Given the description of an element on the screen output the (x, y) to click on. 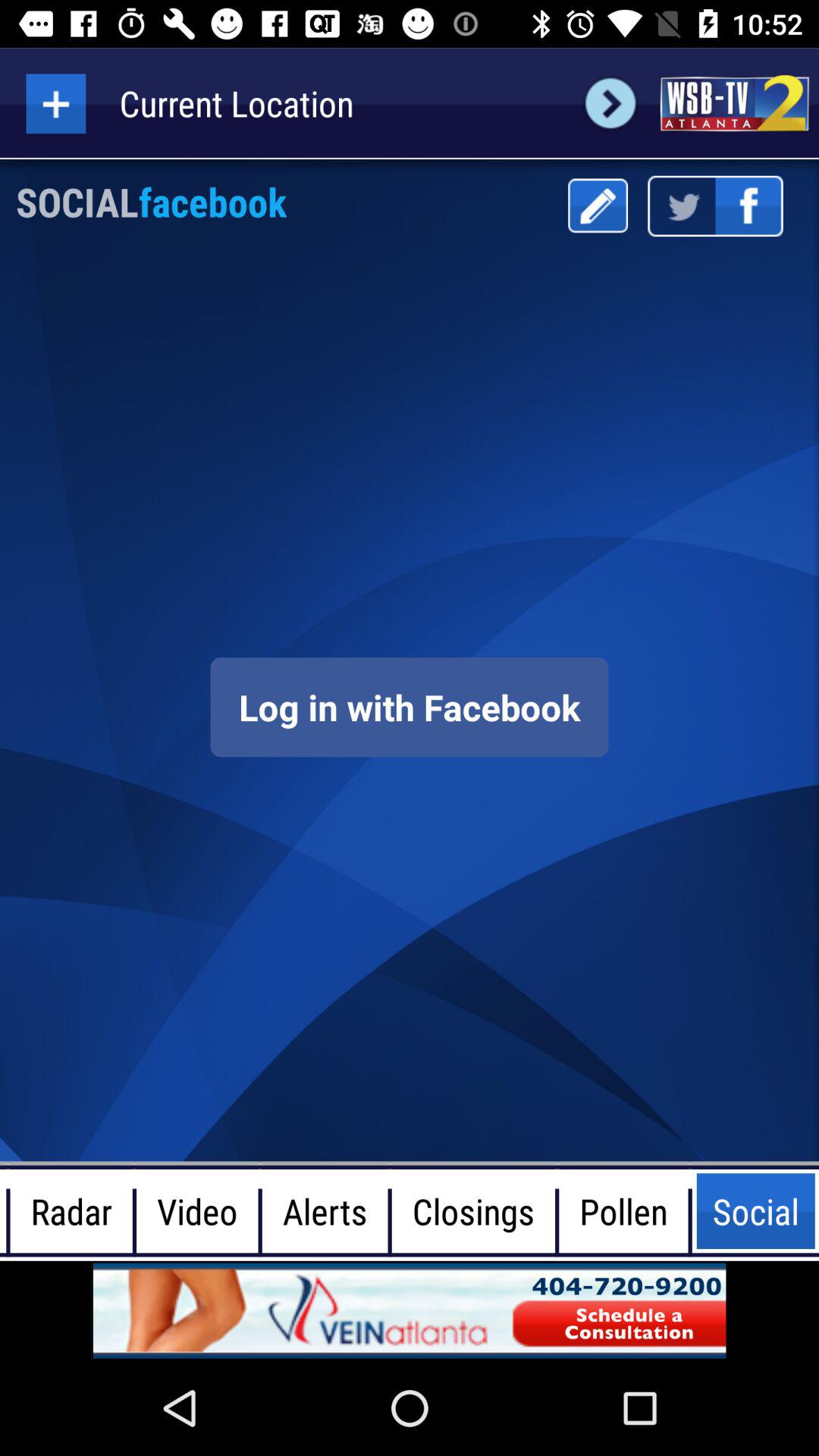
add location (55, 103)
